Given the description of an element on the screen output the (x, y) to click on. 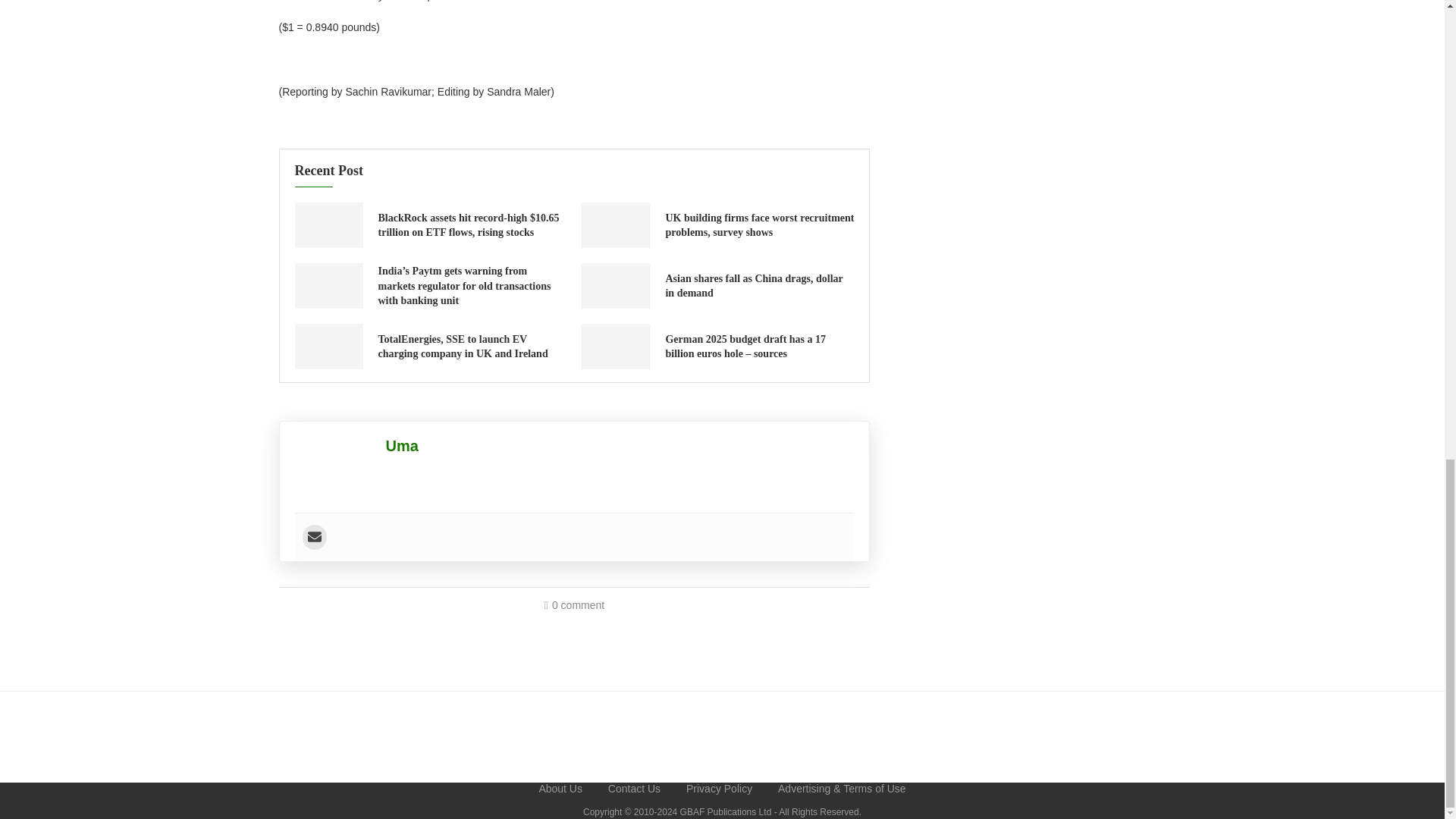
About Us (560, 788)
Privacy Policy (718, 788)
Asian shares fall as China drags, dollar in demand (614, 285)
User email (313, 536)
Uma (401, 445)
Contact Us (634, 788)
Asian shares fall as China drags, dollar in demand (754, 285)
